Given the description of an element on the screen output the (x, y) to click on. 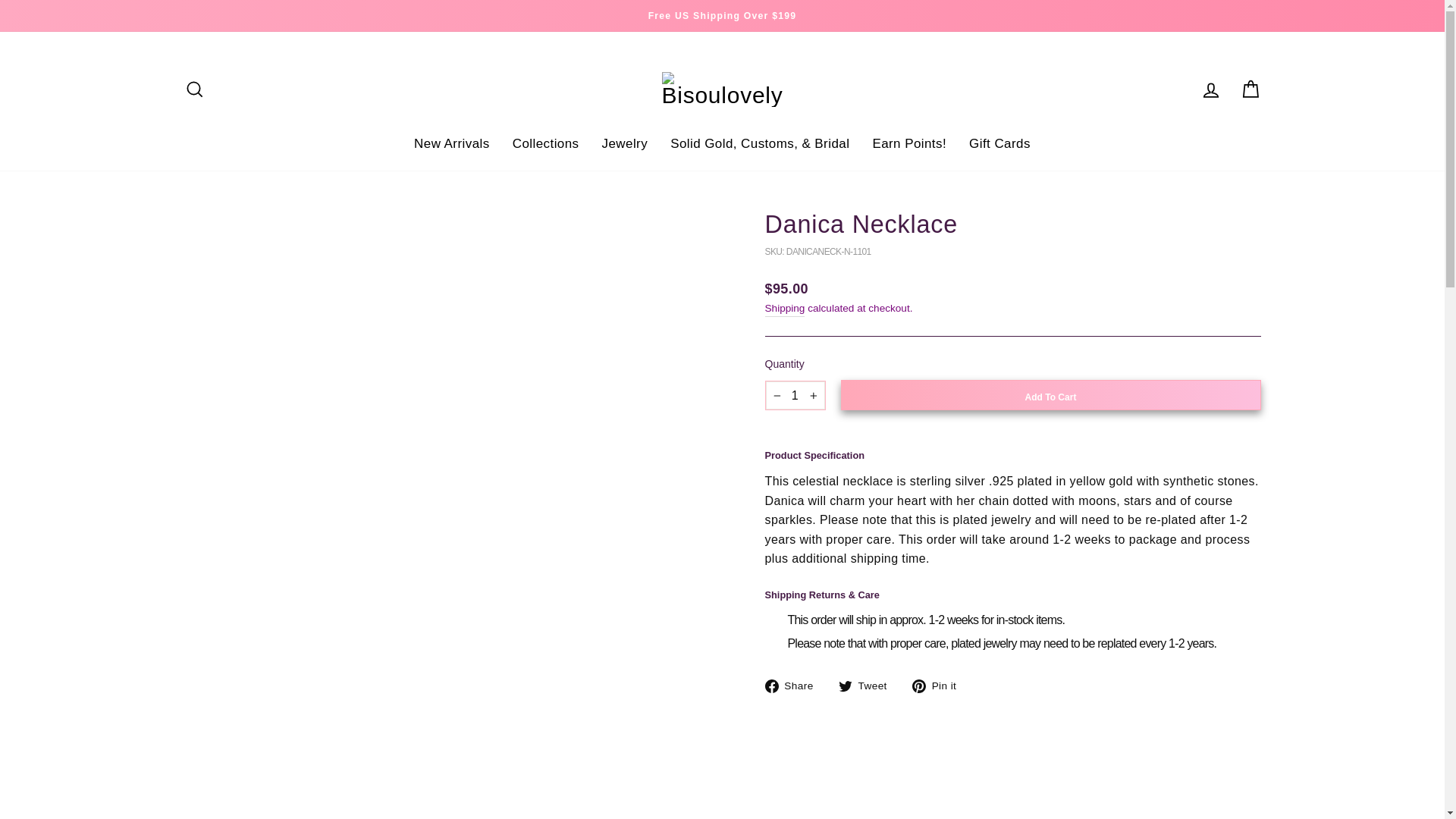
Tweet on Twitter (868, 686)
Share on Facebook (794, 686)
1 (795, 395)
Pin on Pinterest (940, 686)
